Given the description of an element on the screen output the (x, y) to click on. 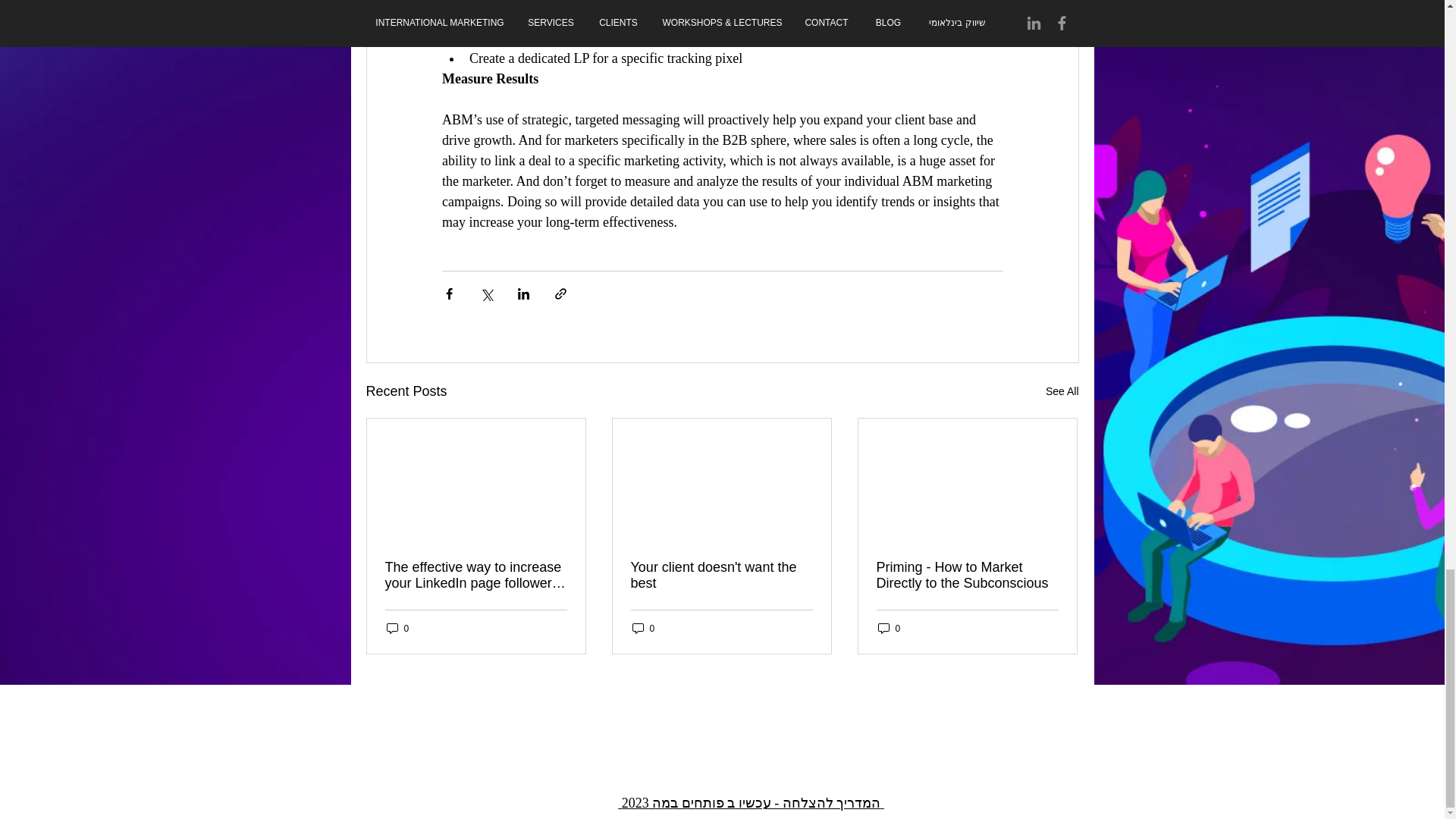
Priming - How to Market Directly to the Subconscious (967, 575)
0 (397, 627)
0 (889, 627)
See All (1061, 391)
Your client doesn't want the best (721, 575)
0 (643, 627)
